Given the description of an element on the screen output the (x, y) to click on. 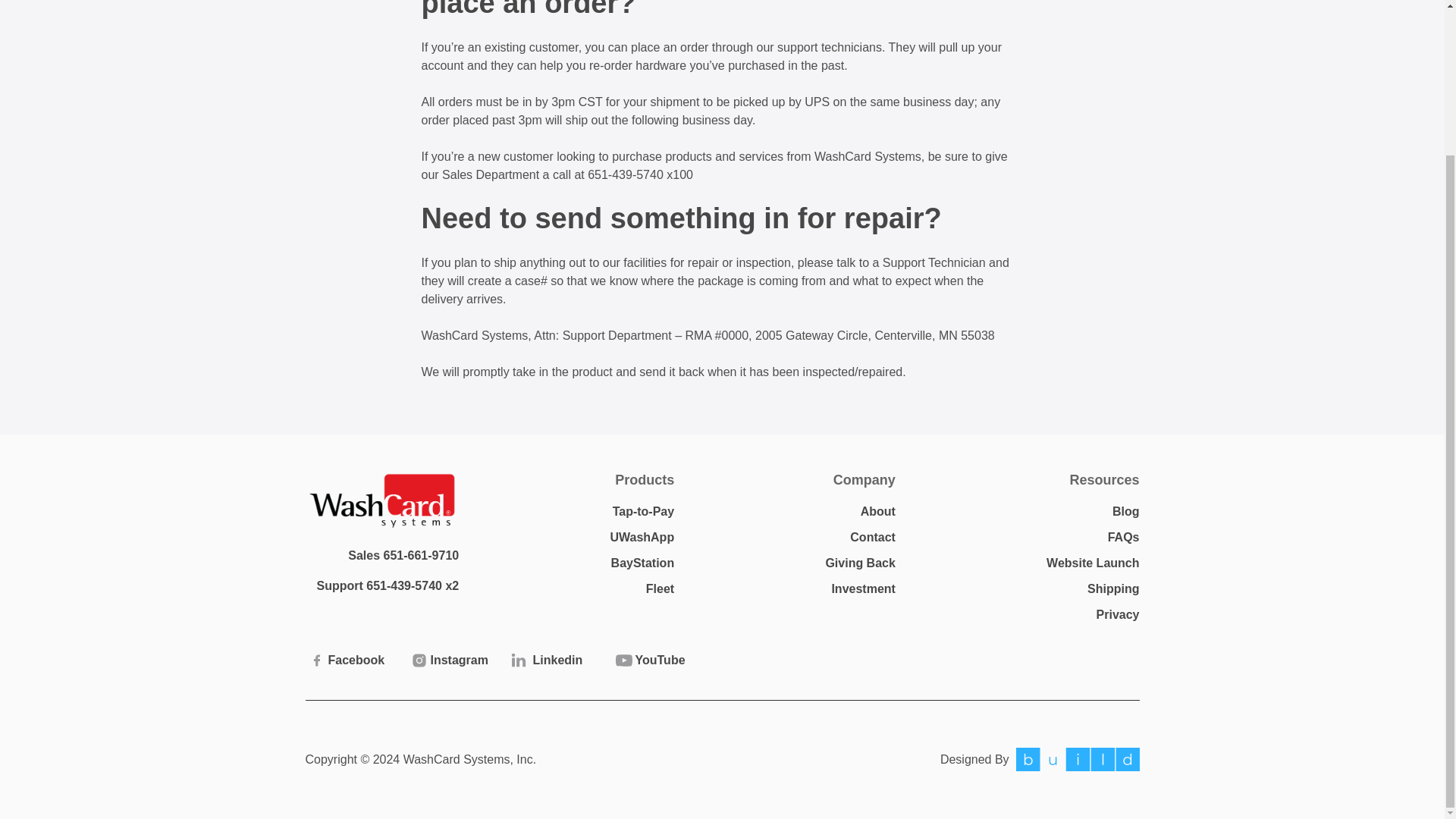
Privacy (1118, 614)
Facebook (346, 660)
Website Launch (1092, 562)
Investment (863, 588)
UWashApp (642, 536)
Support 651-439-5740 x2 (388, 585)
YouTube (653, 660)
Tap-to-Pay (643, 511)
Contact (872, 536)
Linkedin (550, 660)
